Given the description of an element on the screen output the (x, y) to click on. 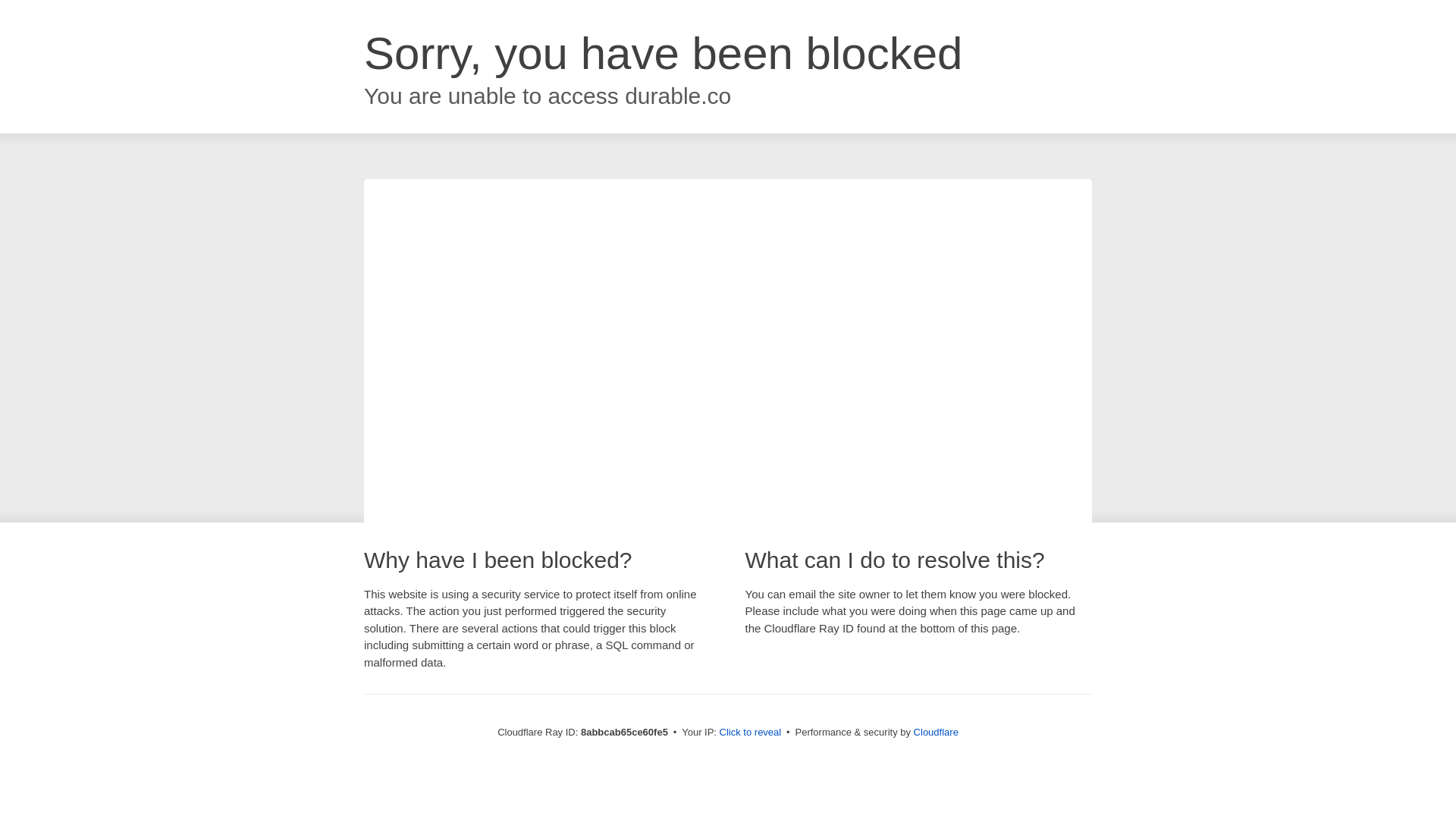
Cloudflare (936, 731)
Click to reveal (750, 732)
